Given the description of an element on the screen output the (x, y) to click on. 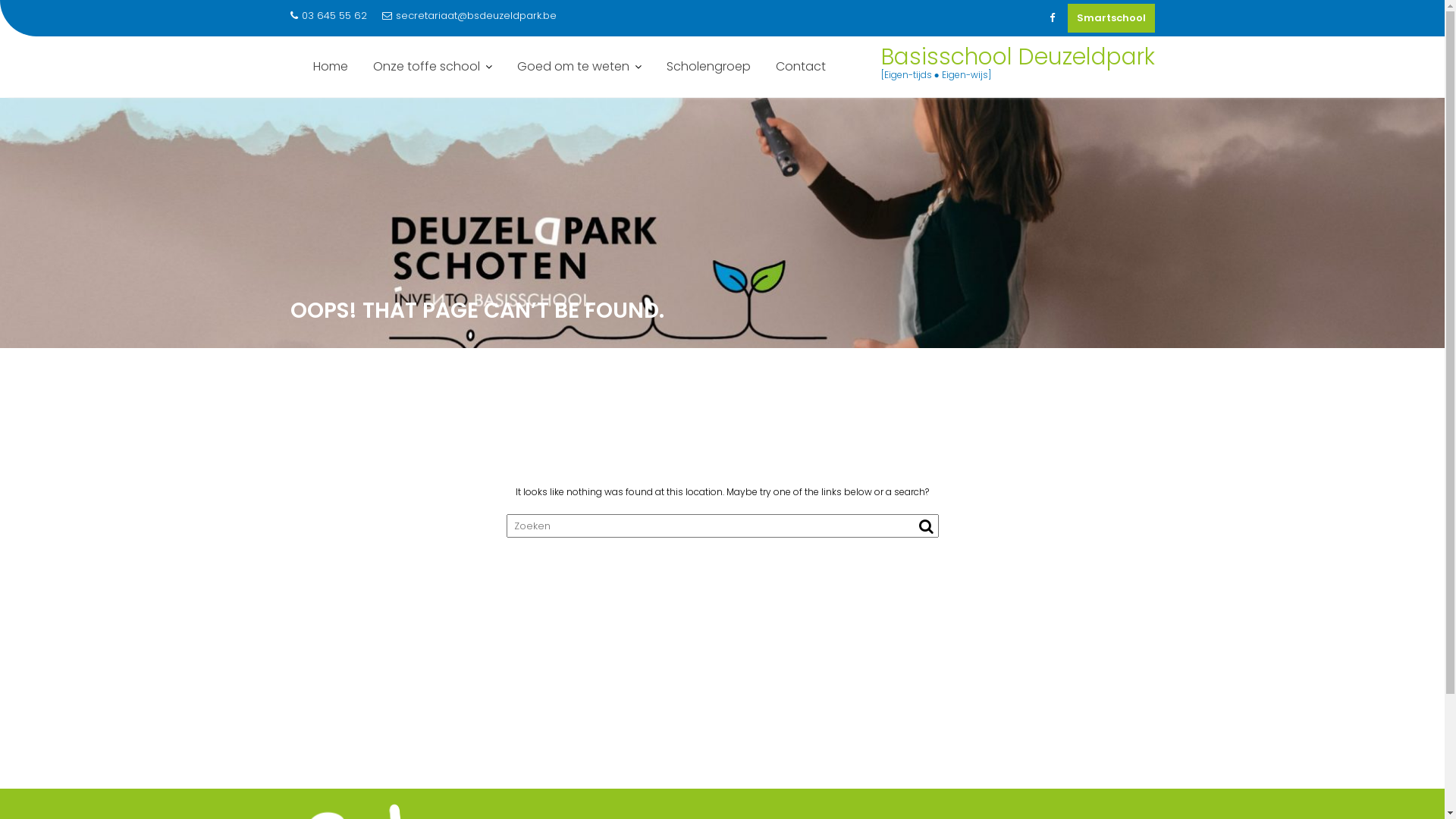
secretariaat@bsdeuzeldpark.be Element type: text (469, 15)
Goed om te weten Element type: text (578, 66)
Onze toffe school Element type: text (431, 66)
Contact Element type: text (800, 66)
Basisschool Deuzeldpark Element type: text (1017, 56)
Scholengroep Element type: text (708, 66)
Home Element type: text (330, 66)
Facebook Element type: hover (1052, 18)
Smartschool Element type: text (1110, 17)
